Given the description of an element on the screen output the (x, y) to click on. 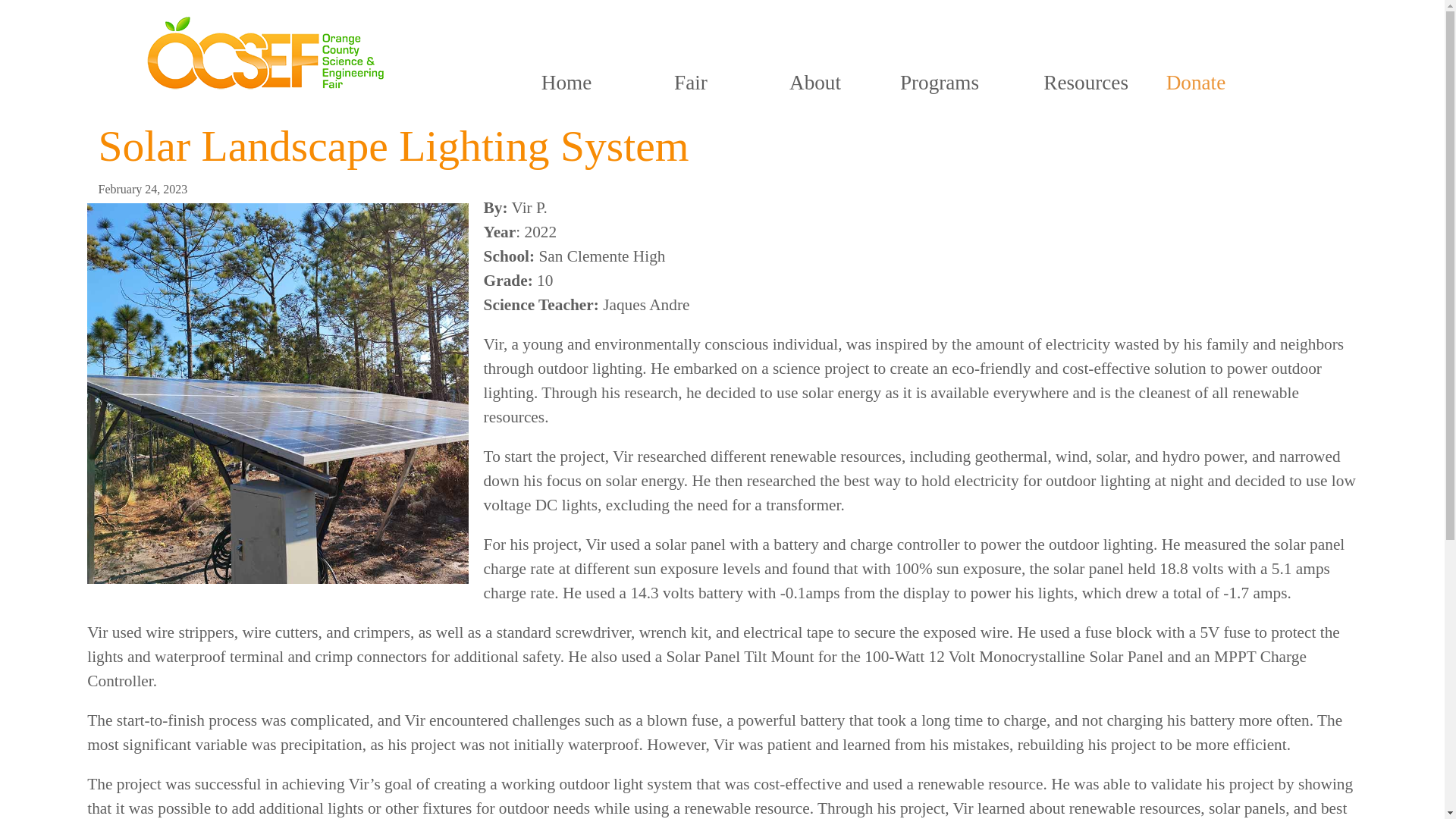
Fair (690, 82)
About (815, 82)
Solar Landscape Lighting System (393, 145)
Resources (1085, 82)
Solar Landscape Lighting System (393, 145)
Search Our Library (323, 101)
OCSEF (265, 88)
Programs (938, 82)
Donate (1195, 82)
Home (566, 82)
